Given the description of an element on the screen output the (x, y) to click on. 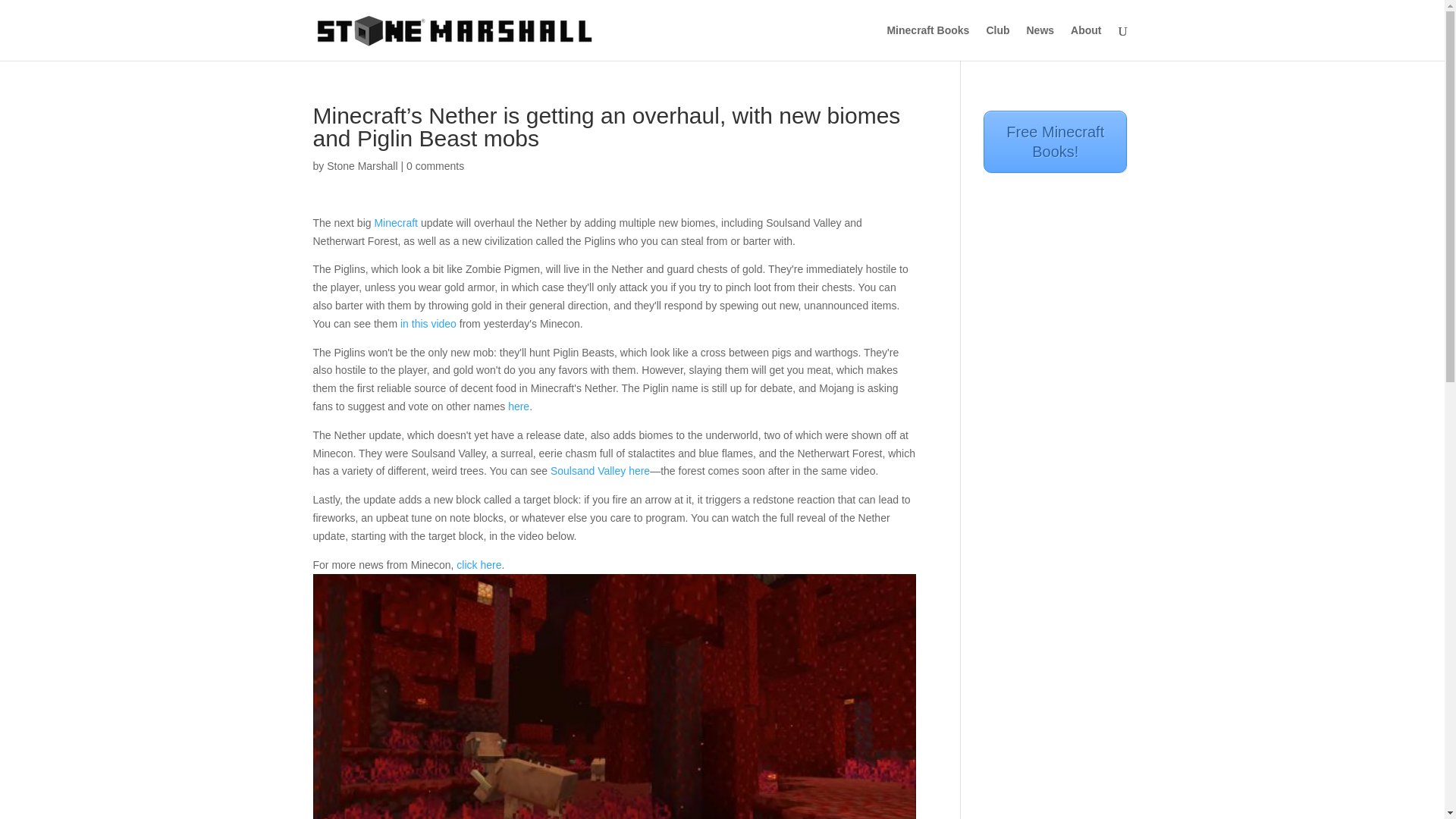
0 comments (435, 165)
Minecraft (395, 223)
Soulsand Valley here (599, 470)
Minecraft Books (927, 42)
Posts by Stone Marshall (361, 165)
News (1040, 42)
Free Minecraft Books! (1055, 141)
Club (997, 42)
in this video (428, 323)
About (1085, 42)
here (518, 406)
Stone Marshall (361, 165)
click here (478, 564)
